Given the description of an element on the screen output the (x, y) to click on. 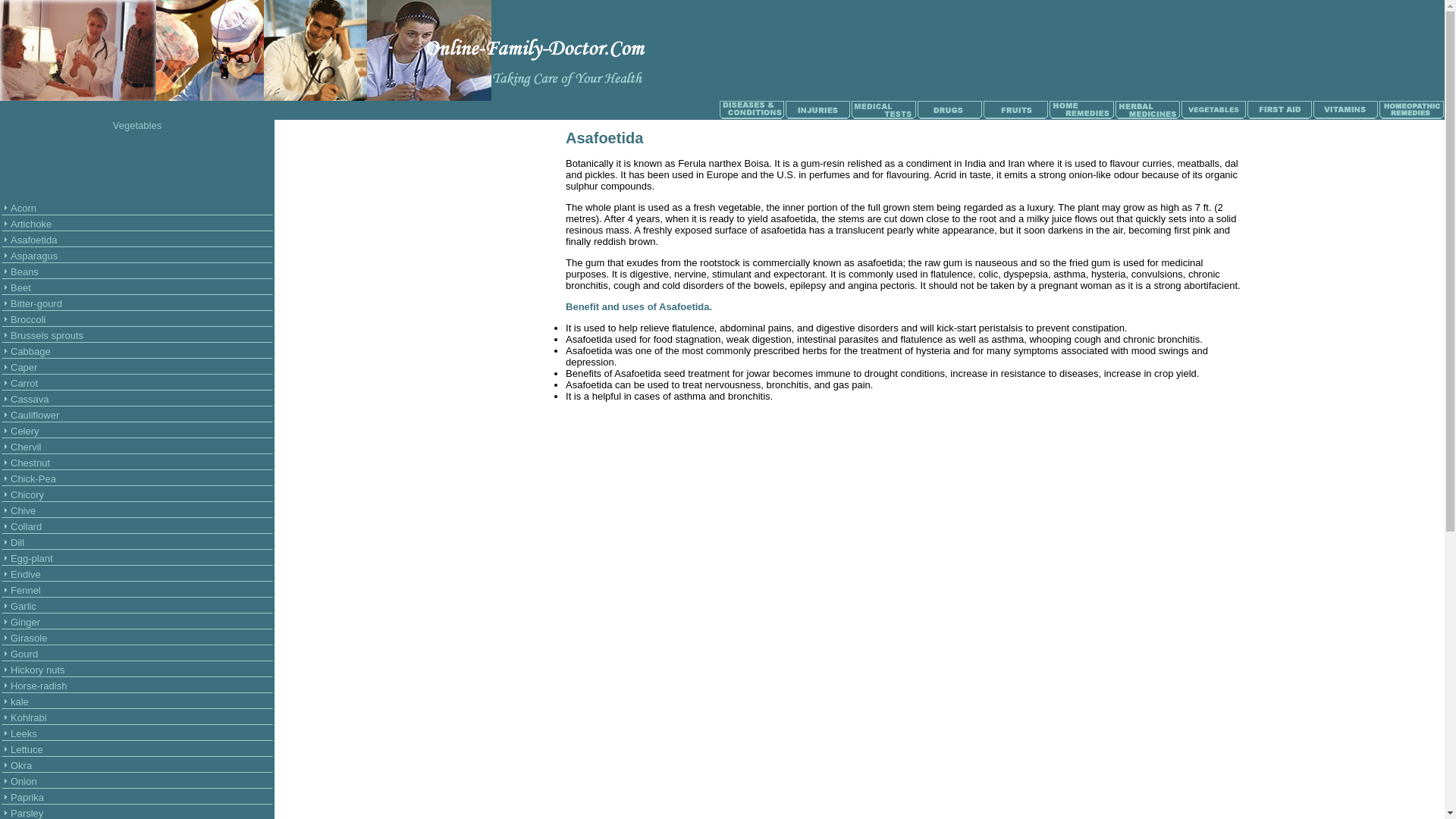
Fennel (25, 590)
Asafoetida (33, 239)
Chervil (25, 446)
Cauliflower (34, 414)
Broccoli (27, 319)
Chive (22, 510)
Endive (25, 573)
Ginger (25, 622)
Advertisement (429, 235)
Vegetables (137, 125)
Asparagus (34, 255)
Acorn (23, 207)
Advertisement (137, 165)
Beet (20, 287)
Chestnut (29, 462)
